Given the description of an element on the screen output the (x, y) to click on. 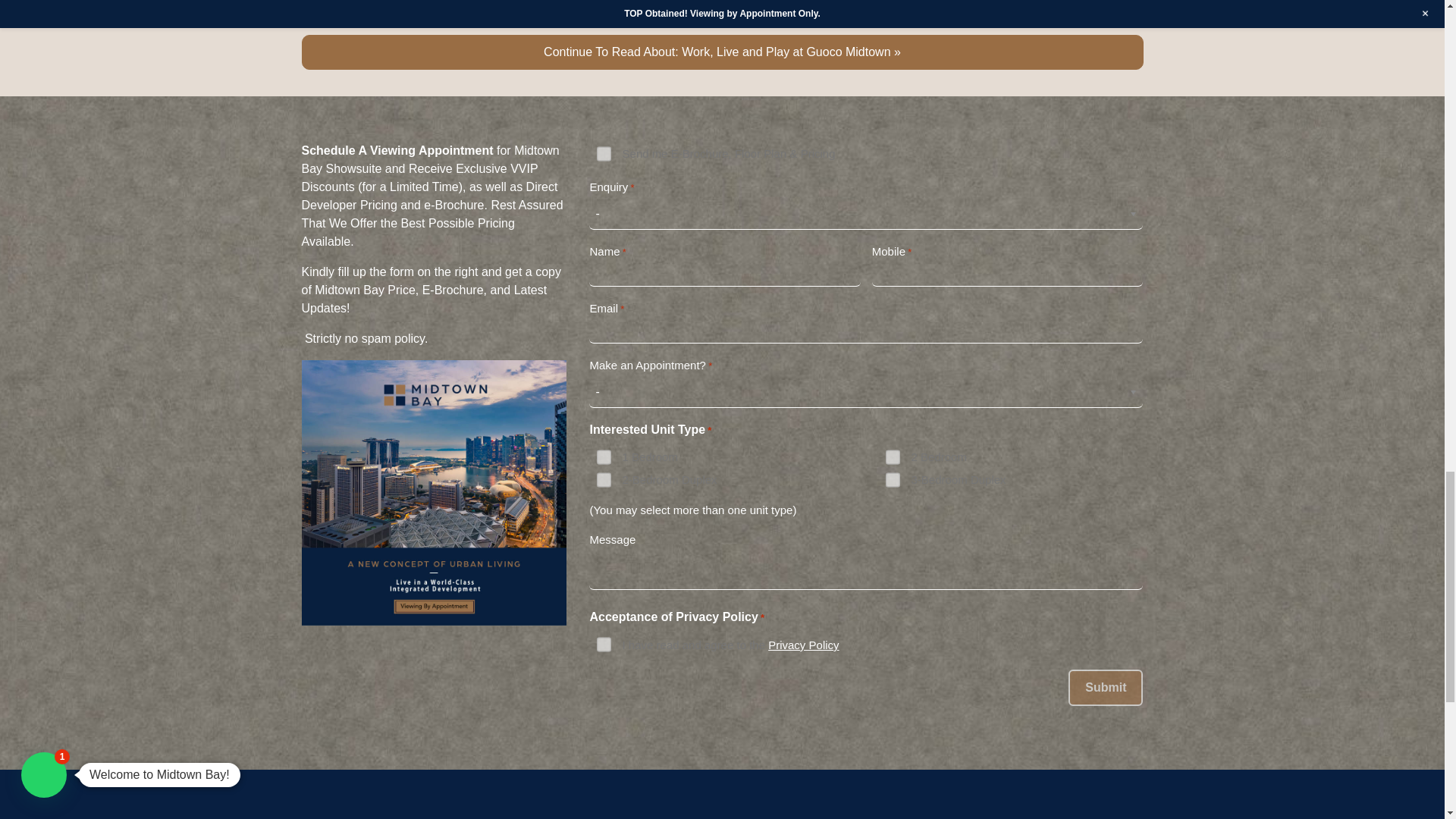
Submit (1105, 687)
